Given the description of an element on the screen output the (x, y) to click on. 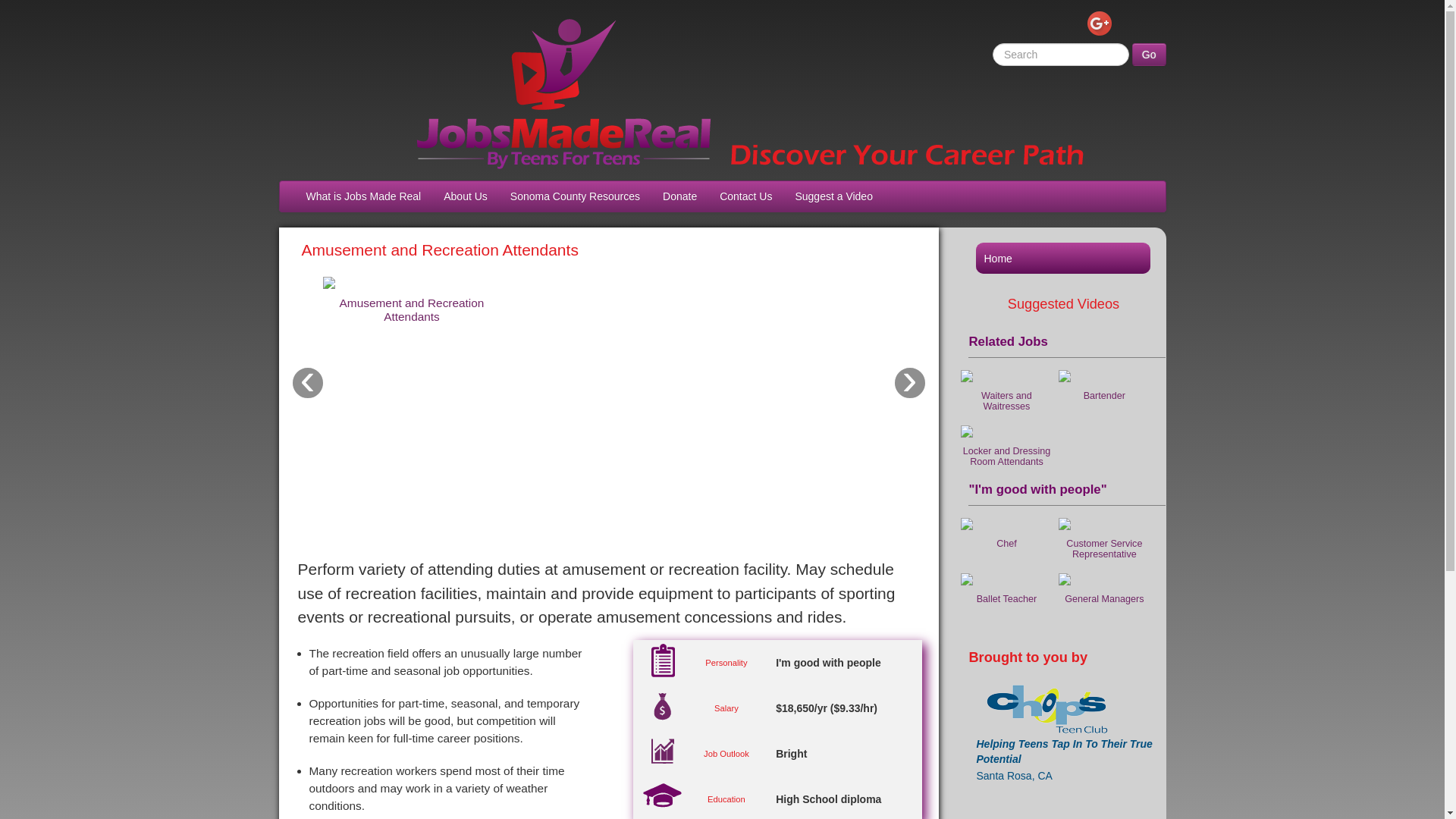
Suggest a Video (833, 195)
General Managers (1105, 574)
Sonoma County Resources (574, 195)
Waiters and Waitresses (1009, 371)
Locker and Dressing Room Attendants (1007, 426)
Bartender (1105, 371)
Go (1149, 54)
About Us (465, 195)
What is Jobs Made Real (363, 195)
Contact Us (745, 195)
